Given the description of an element on the screen output the (x, y) to click on. 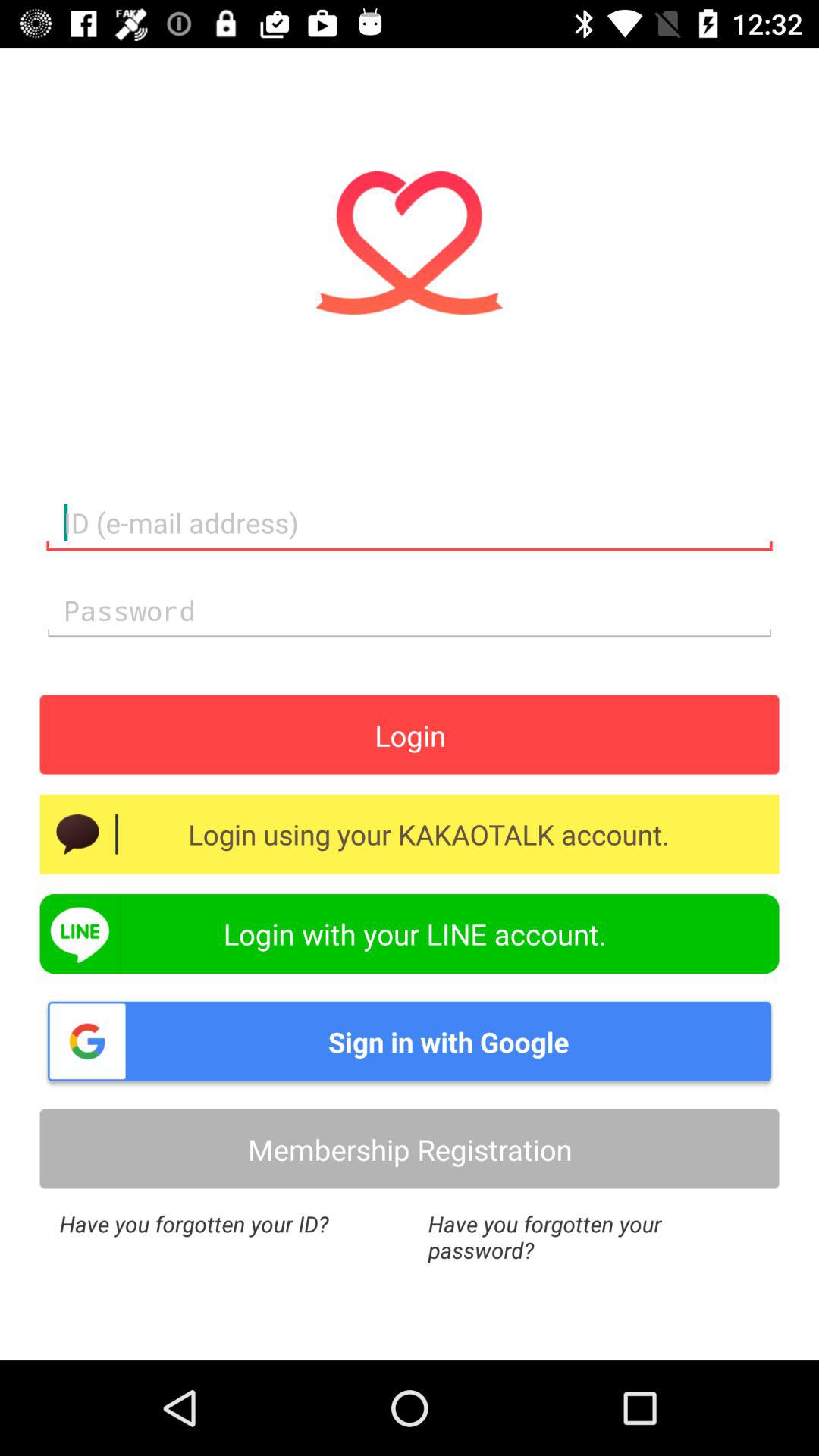
login email address typing field (409, 523)
